Given the description of an element on the screen output the (x, y) to click on. 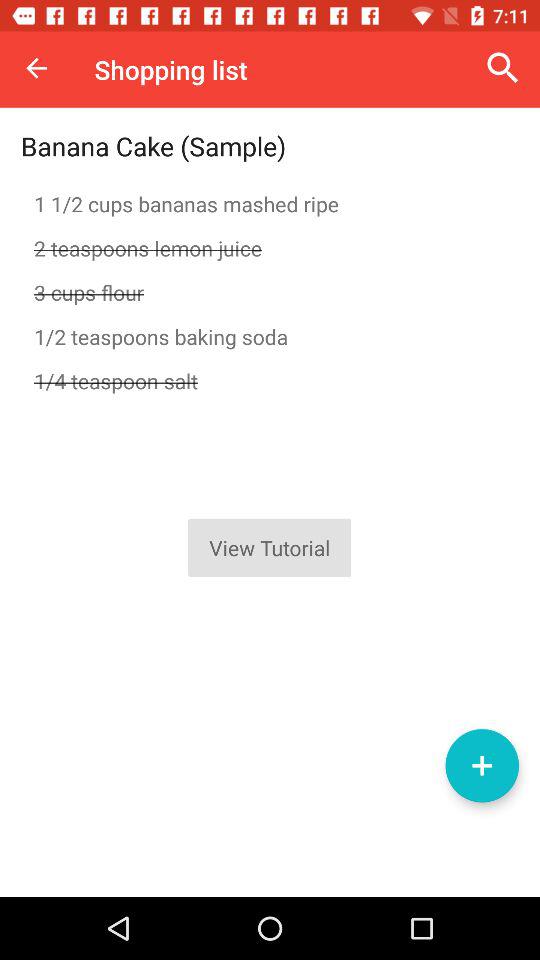
tap item to the left of shopping list (36, 68)
